Given the description of an element on the screen output the (x, y) to click on. 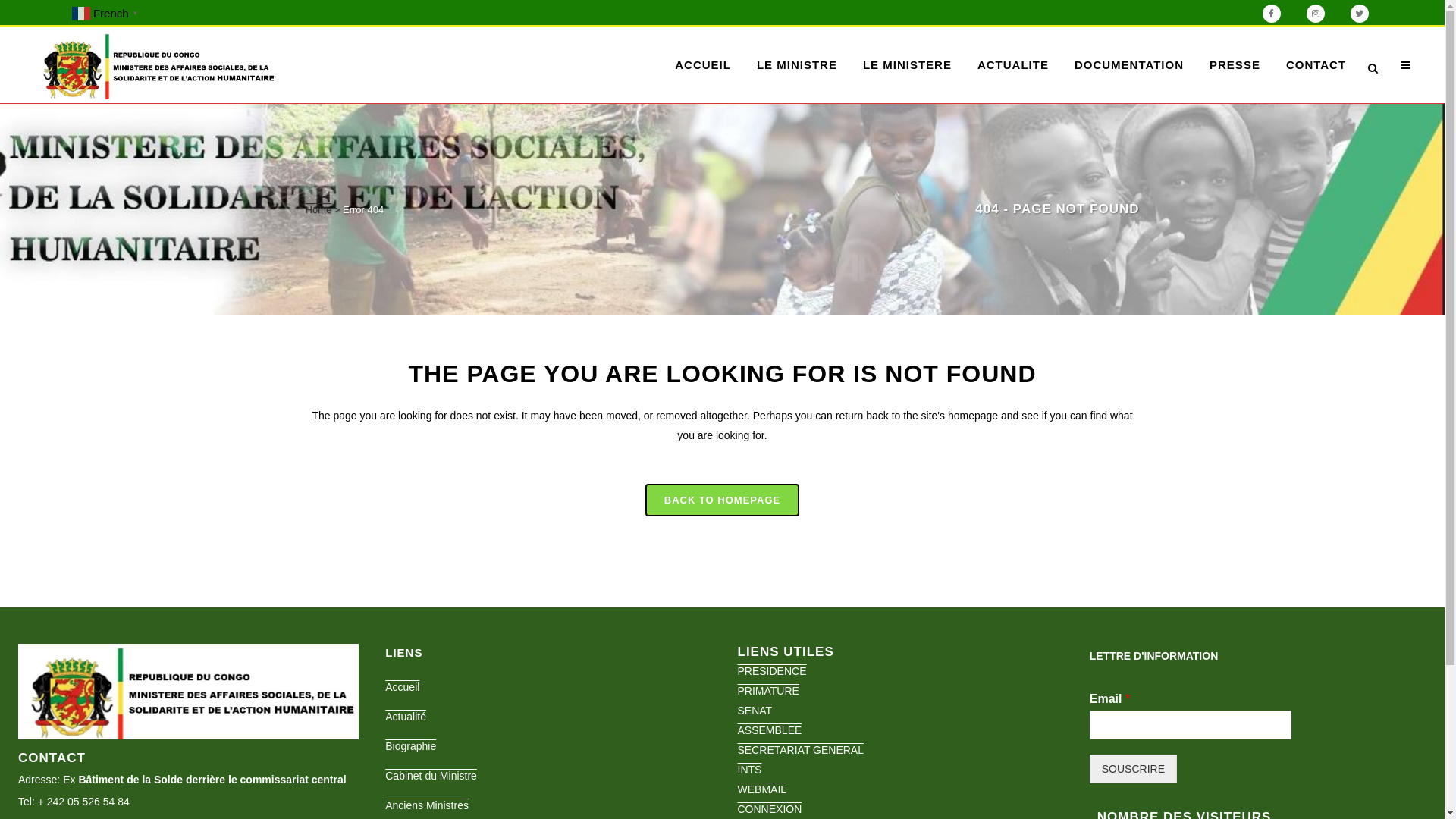
BACK TO HOMEPAGE Element type: text (722, 499)
ACTUALITE Element type: text (1012, 65)
INTS Element type: text (749, 769)
SOUSCRIRE Element type: text (1132, 768)
WEBMAIL Element type: text (761, 789)
Anciens Ministres Element type: text (549, 805)
Home Element type: text (317, 209)
PRESIDENCE Element type: text (771, 671)
CONNEXION Element type: text (769, 809)
LE MINISTERE Element type: text (907, 65)
DOCUMENTATION Element type: text (1128, 65)
LE MINISTRE Element type: text (796, 65)
Accueil Element type: text (549, 686)
SECRETARIAT GENERAL Element type: text (799, 749)
Biographie Element type: text (549, 745)
ACCUEIL Element type: text (702, 65)
PRIMATURE Element type: text (767, 690)
ASSEMBLEE Element type: text (769, 730)
SENAT Element type: text (754, 710)
Cabinet du Ministre Element type: text (549, 775)
CONTACT Element type: text (1315, 65)
PRESSE Element type: text (1234, 65)
